Given the description of an element on the screen output the (x, y) to click on. 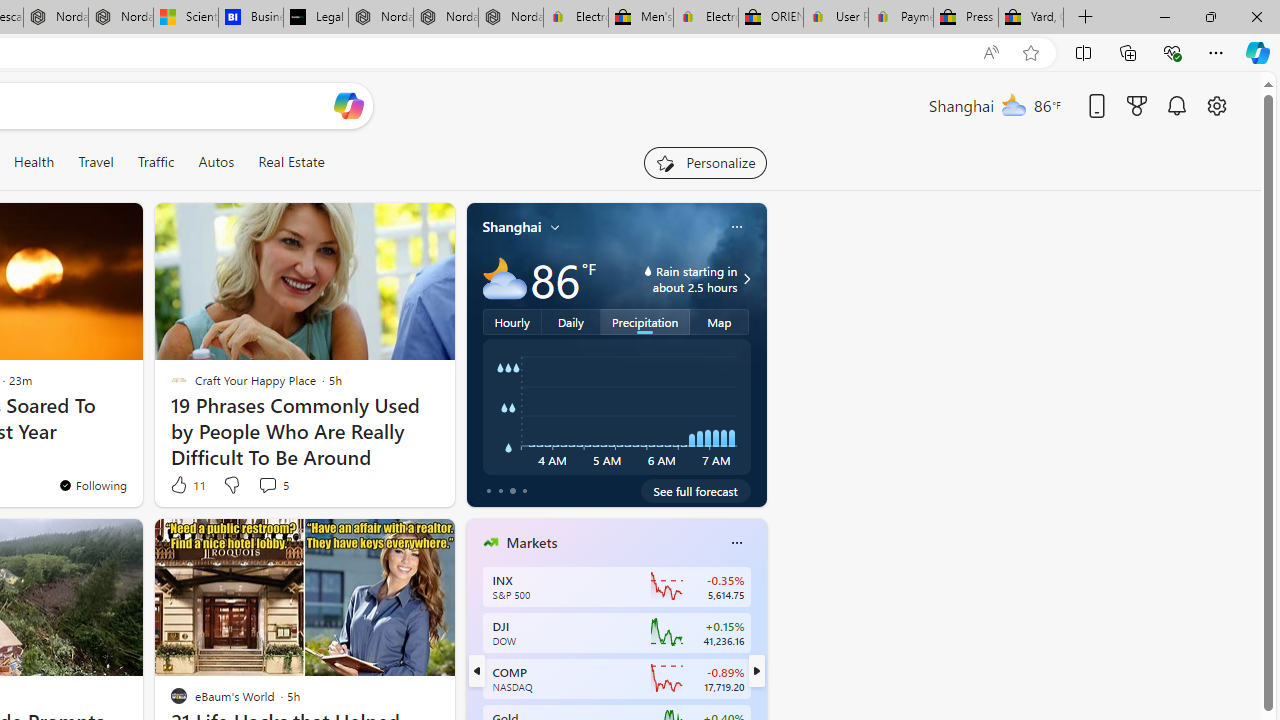
View comments 5 Comment (272, 484)
Shanghai (511, 227)
Precipitation (645, 321)
tab-1 (500, 490)
See full forecast (695, 490)
4 AM 5 AM 6 AM 7 AM (616, 407)
My location (555, 227)
